Given the description of an element on the screen output the (x, y) to click on. 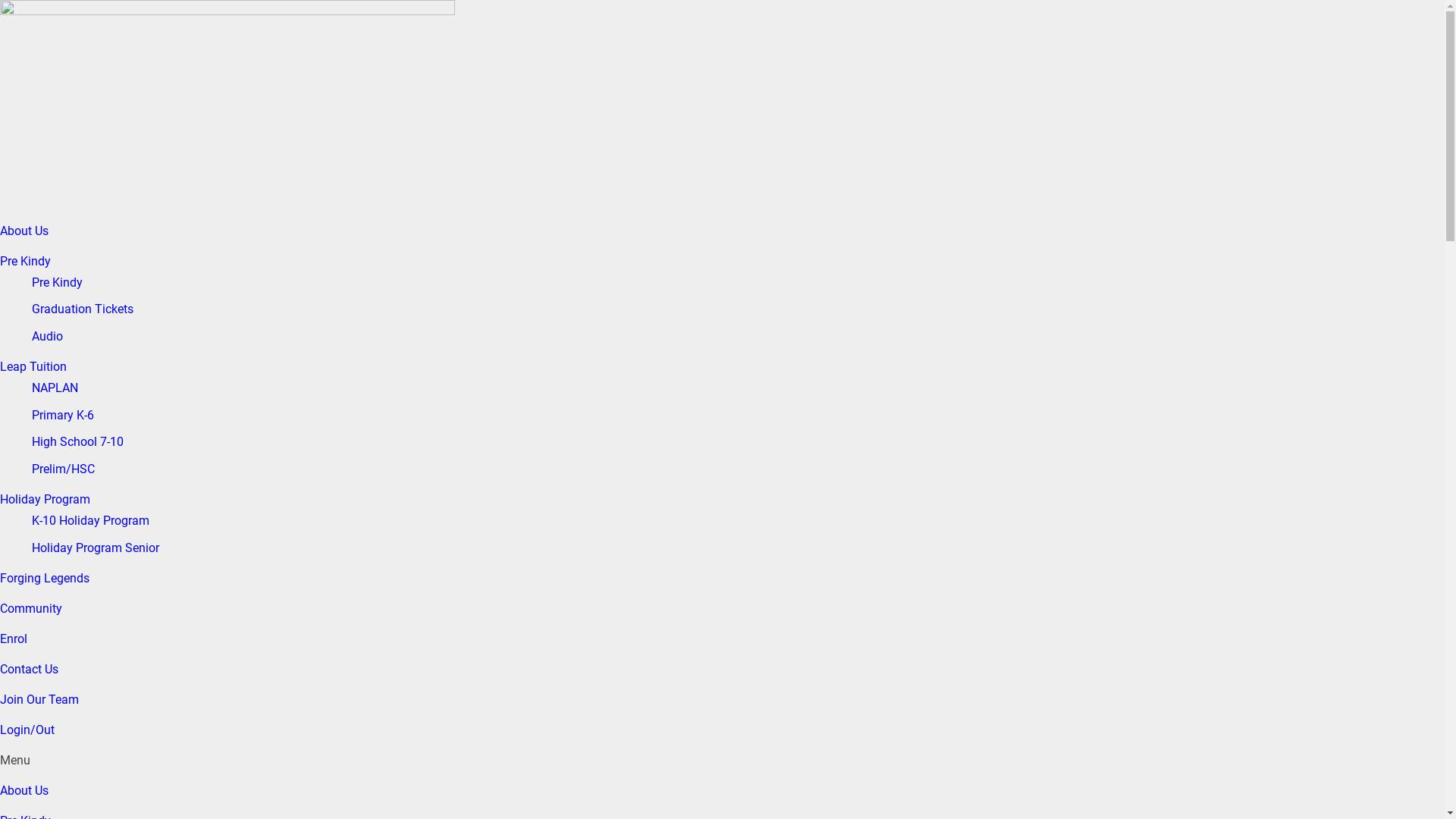
Enrol Element type: text (13, 638)
Audio Element type: text (46, 336)
K-10 Holiday Program Element type: text (90, 520)
High School 7-10 Element type: text (77, 441)
Join Our Team Element type: text (39, 699)
Community Element type: text (31, 608)
Holiday Program Senior Element type: text (95, 548)
Graduation Tickets Element type: text (82, 309)
NAPLAN Element type: text (54, 388)
Prelim/HSC Element type: text (62, 469)
Holiday Program Element type: text (45, 499)
Contact Us Element type: text (29, 669)
Login/Out Element type: text (27, 729)
Forging Legends Element type: text (44, 578)
Pre Kindy Element type: text (56, 282)
Pre Kindy Element type: text (25, 261)
Leap Tuition Element type: text (33, 366)
About Us Element type: text (24, 790)
About Us Element type: text (24, 230)
Primary K-6 Element type: text (62, 415)
